Given the description of an element on the screen output the (x, y) to click on. 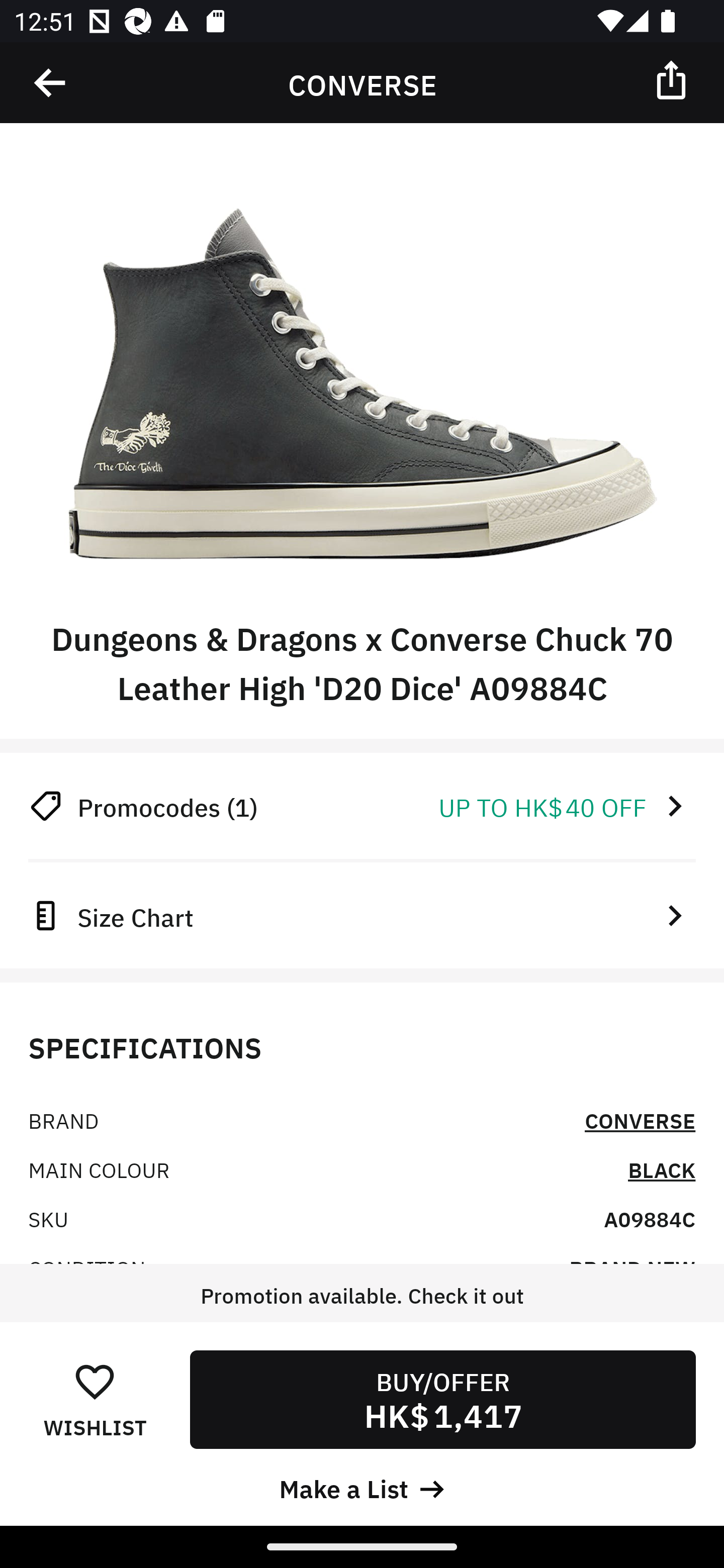
 (50, 83)
 (672, 79)
Promocodes (1) UP TO HK$ 40 OFF  (361, 805)
Size Chart  (361, 914)
CONVERSE (639, 1119)
BLACK (661, 1168)
A09884C (649, 1218)
BUY/OFFER HK$ 1,417 (442, 1399)
󰋕 (94, 1380)
Make a List (361, 1486)
